Given the description of an element on the screen output the (x, y) to click on. 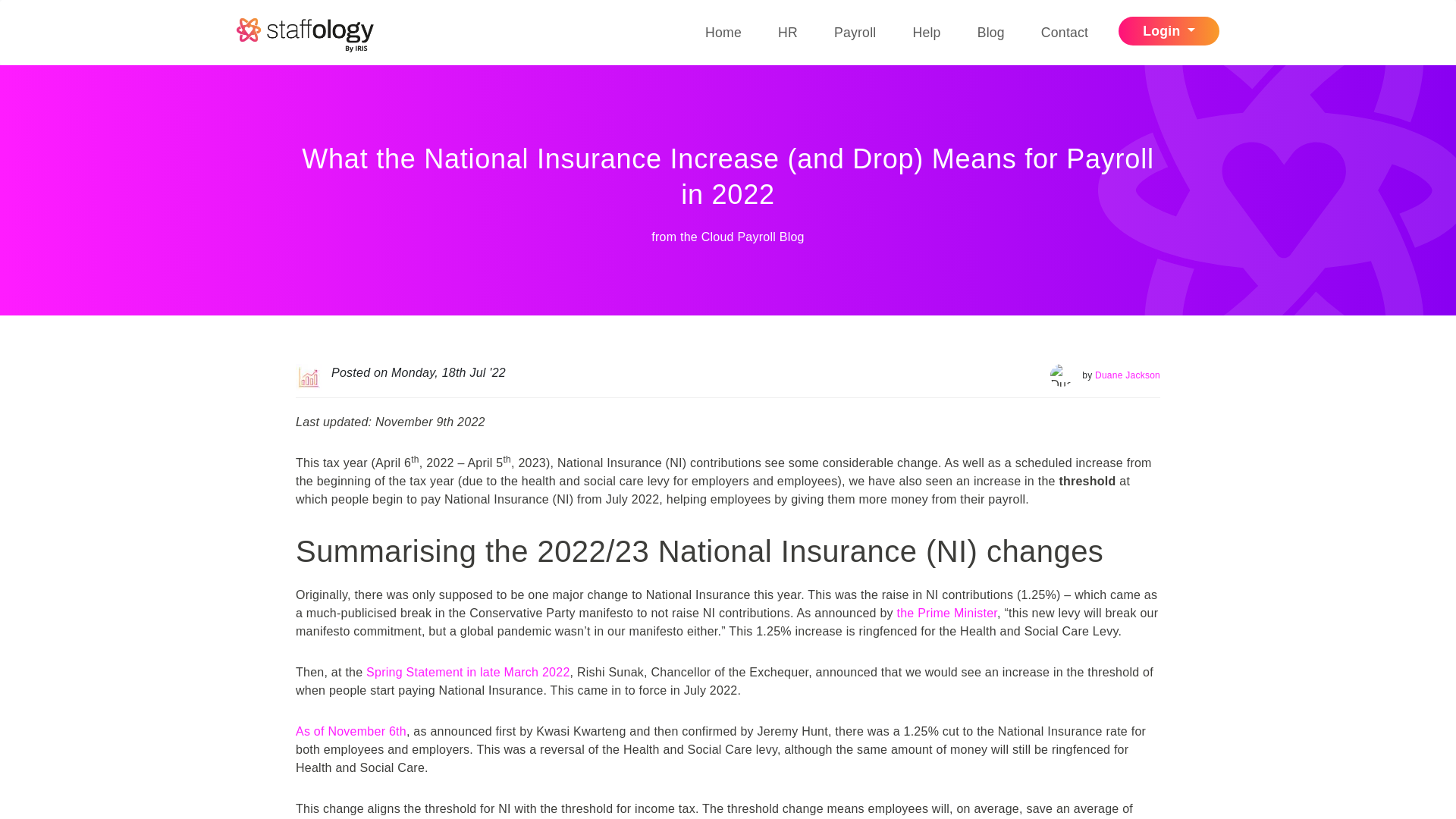
Spring Statement in late March 2022 (467, 671)
Help (925, 32)
HR (787, 32)
the Cloud Payroll Blog (742, 236)
Payroll (855, 32)
As of November 6th (350, 730)
Home (723, 32)
Login (1169, 30)
Blog (990, 32)
the Prime Minister (946, 612)
